Given the description of an element on the screen output the (x, y) to click on. 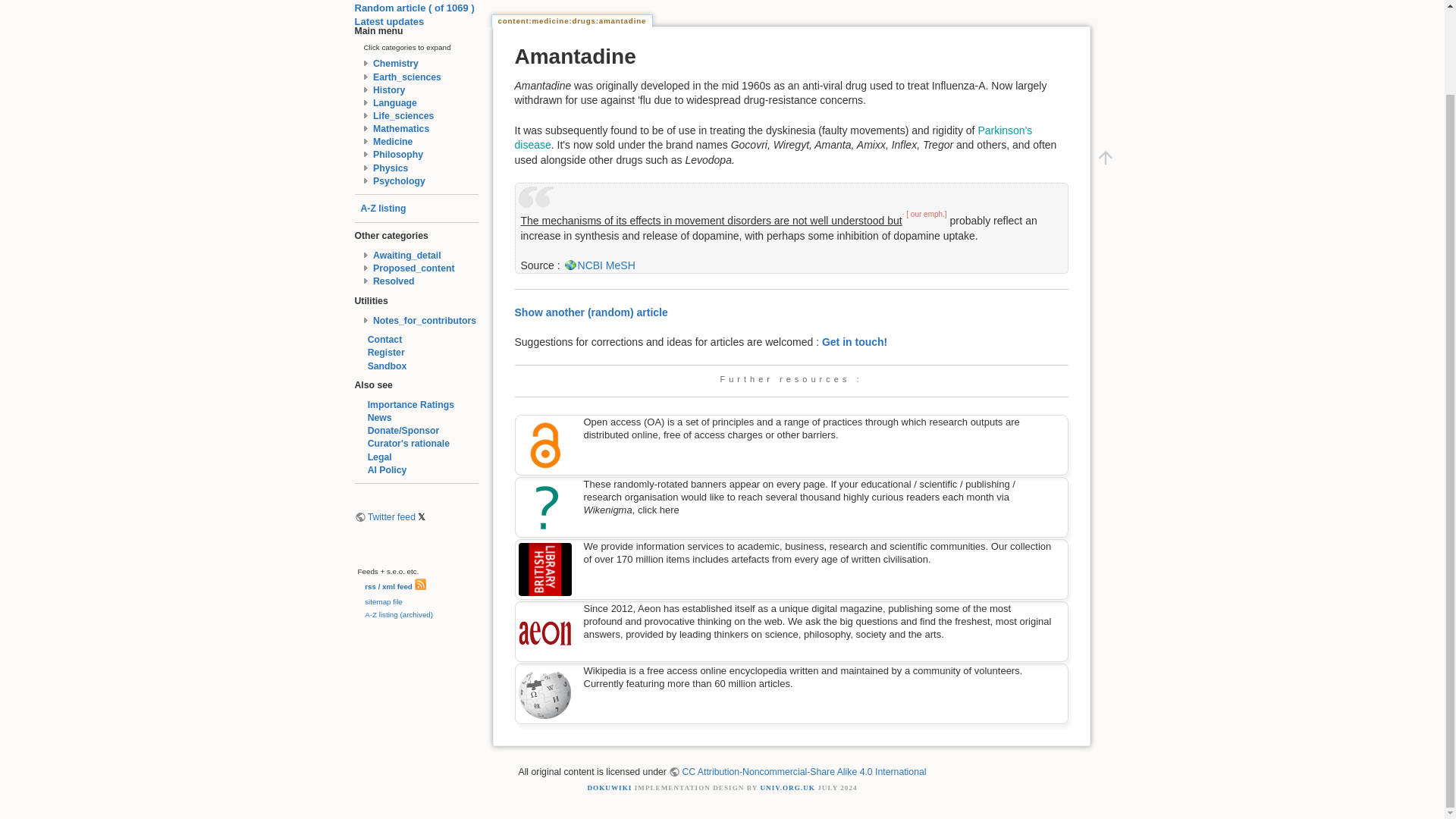
A-Z listing (383, 208)
News (373, 417)
Twitter feed (384, 516)
Parkinson's disease (772, 137)
Medicine (392, 141)
Psychology (398, 181)
Register (379, 352)
Physics (389, 167)
Curator's rationale (402, 443)
Latest updates (390, 21)
History (388, 90)
Philosophy (397, 154)
Resolved (392, 281)
sitemap file (379, 601)
Importance Ratings (404, 404)
